Given the description of an element on the screen output the (x, y) to click on. 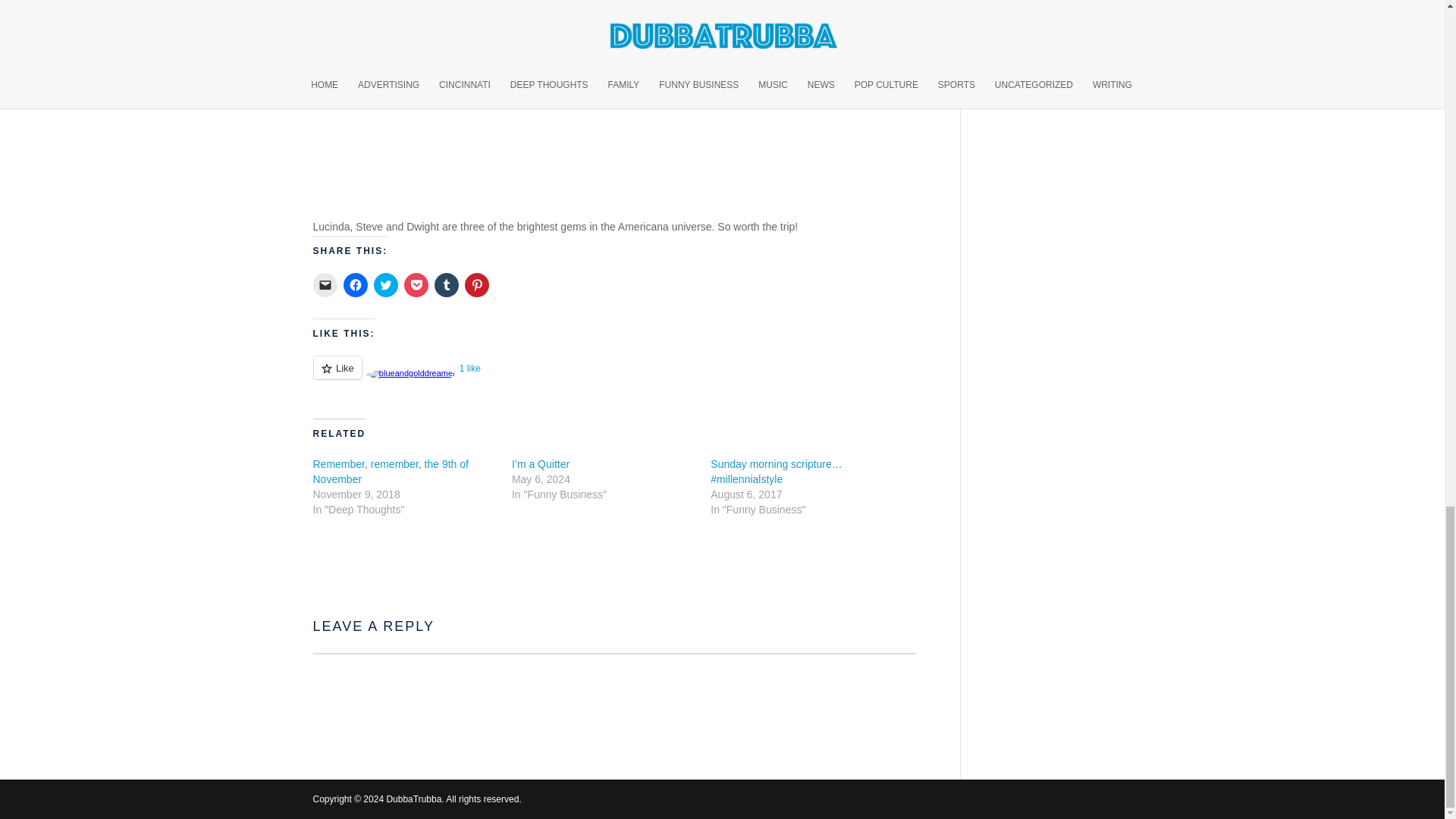
Click to share on Pocket (415, 284)
Remember, remember, the 9th of November (390, 471)
Like or Reblog (614, 376)
Click to email a link to a friend (324, 284)
Click to share on Pinterest (475, 284)
Click to share on Tumblr (445, 284)
Remember, remember, the 9th of November (390, 471)
Click to share on Facebook (354, 284)
Click to share on Twitter (384, 284)
